Given the description of an element on the screen output the (x, y) to click on. 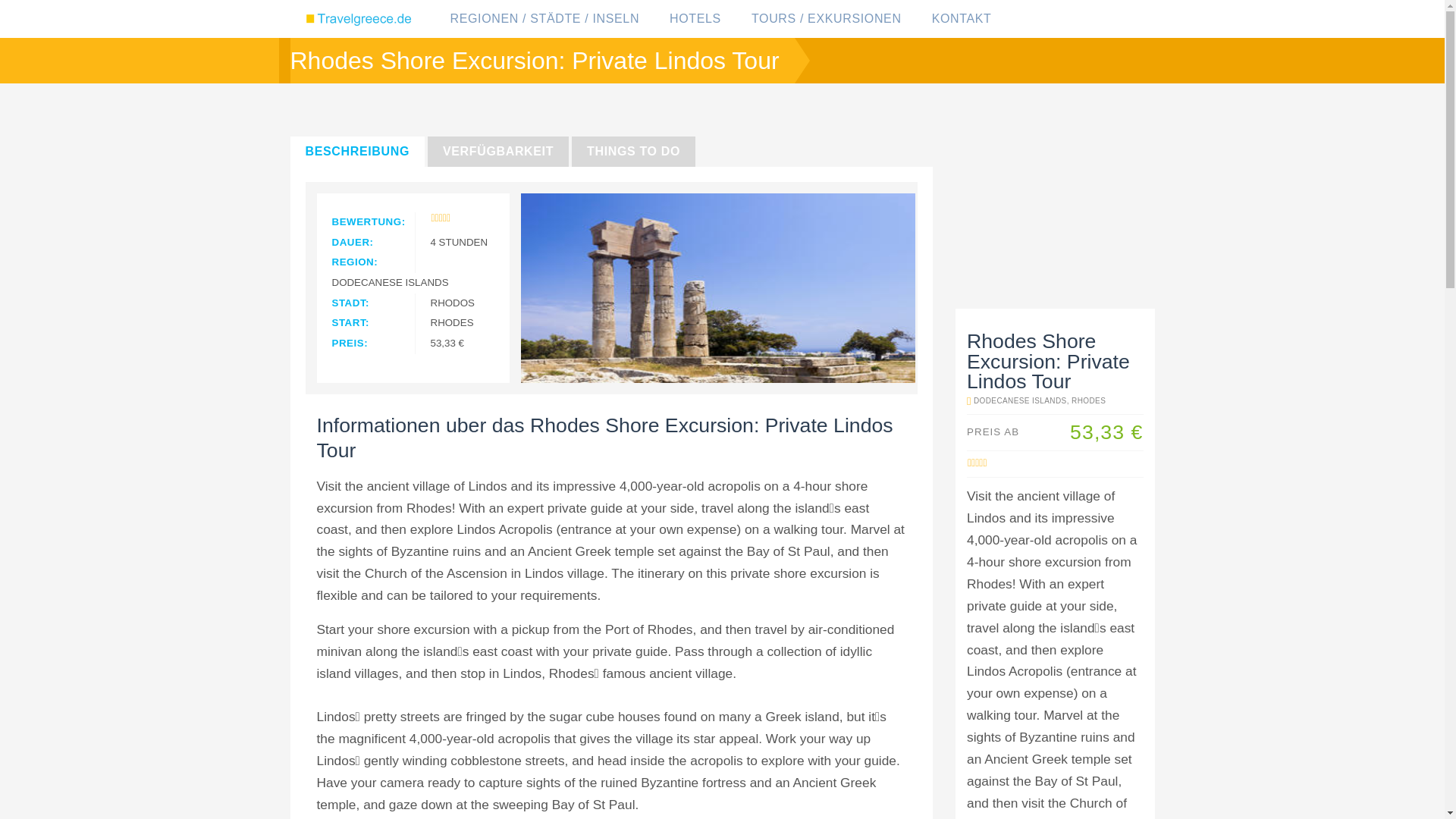
Griechenland Reisen (359, 18)
Advertisement (1049, 208)
